Given the description of an element on the screen output the (x, y) to click on. 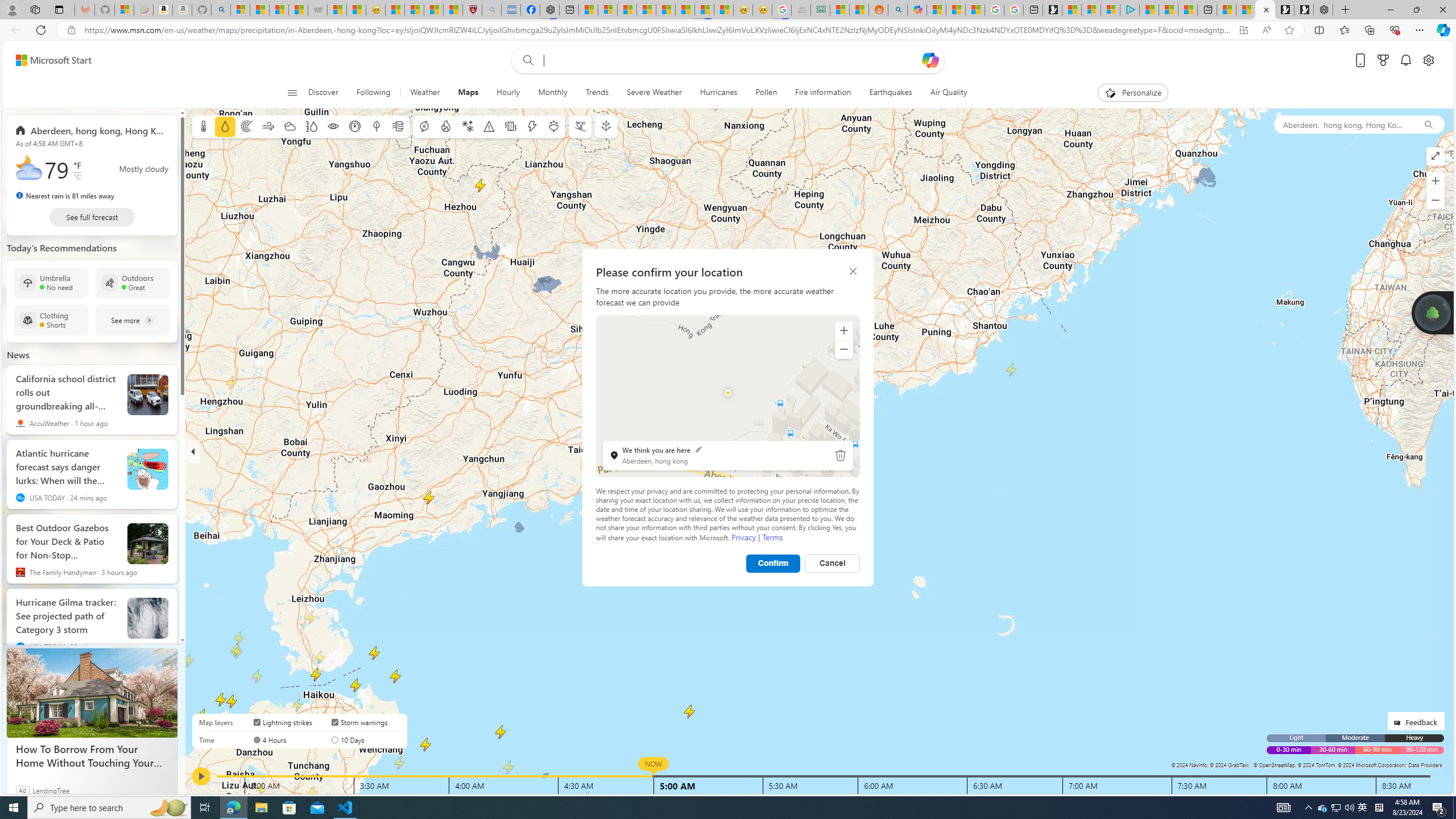
Pollen (553, 126)
Stocks - MSN (298, 9)
Air Quality (943, 92)
Zoom out (843, 348)
Earthquakes (890, 92)
Hourly (507, 92)
Utah sues federal government - Search (897, 9)
App bar (728, 29)
Discover (327, 92)
Temperature (203, 126)
Hurricanes (718, 92)
News (18, 354)
Umbrella No need (50, 282)
